Given the description of an element on the screen output the (x, y) to click on. 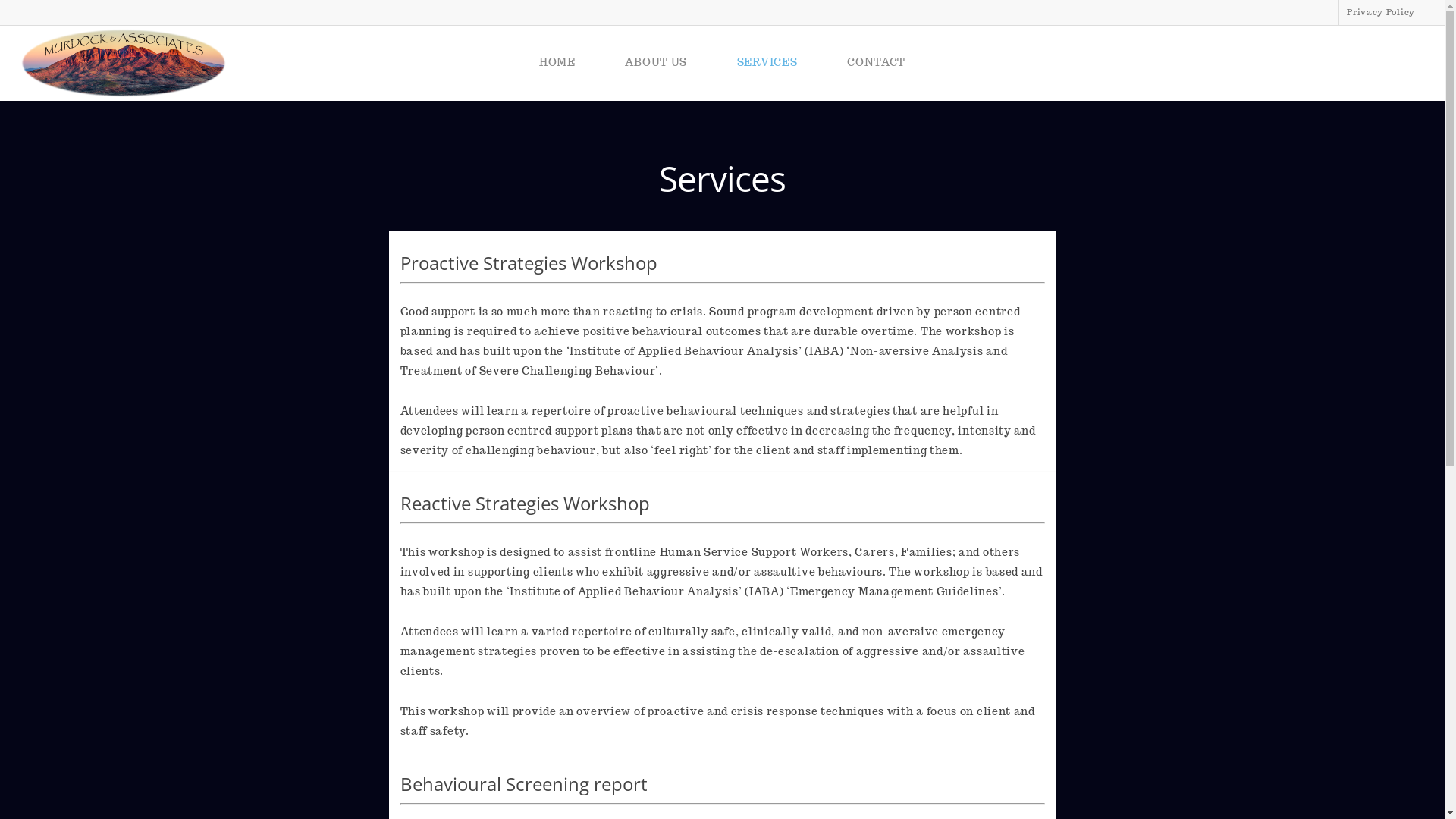
CONTACT Element type: text (876, 64)
Privacy Policy Element type: text (1380, 12)
HOME Element type: text (557, 64)
ABOUT US Element type: text (655, 64)
SERVICES Element type: text (767, 64)
